Given the description of an element on the screen output the (x, y) to click on. 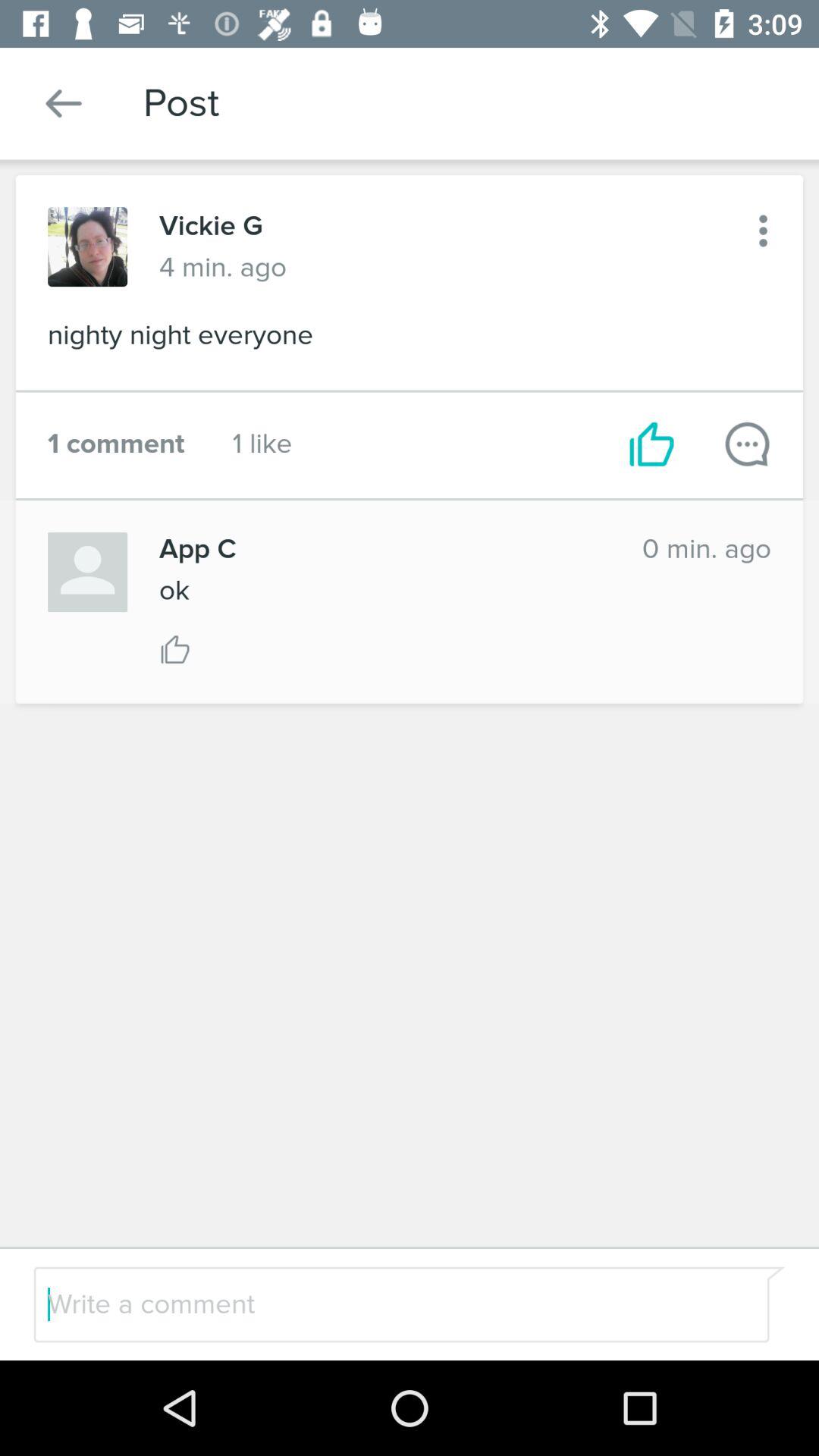
click nighty night everyone icon (409, 340)
